Given the description of an element on the screen output the (x, y) to click on. 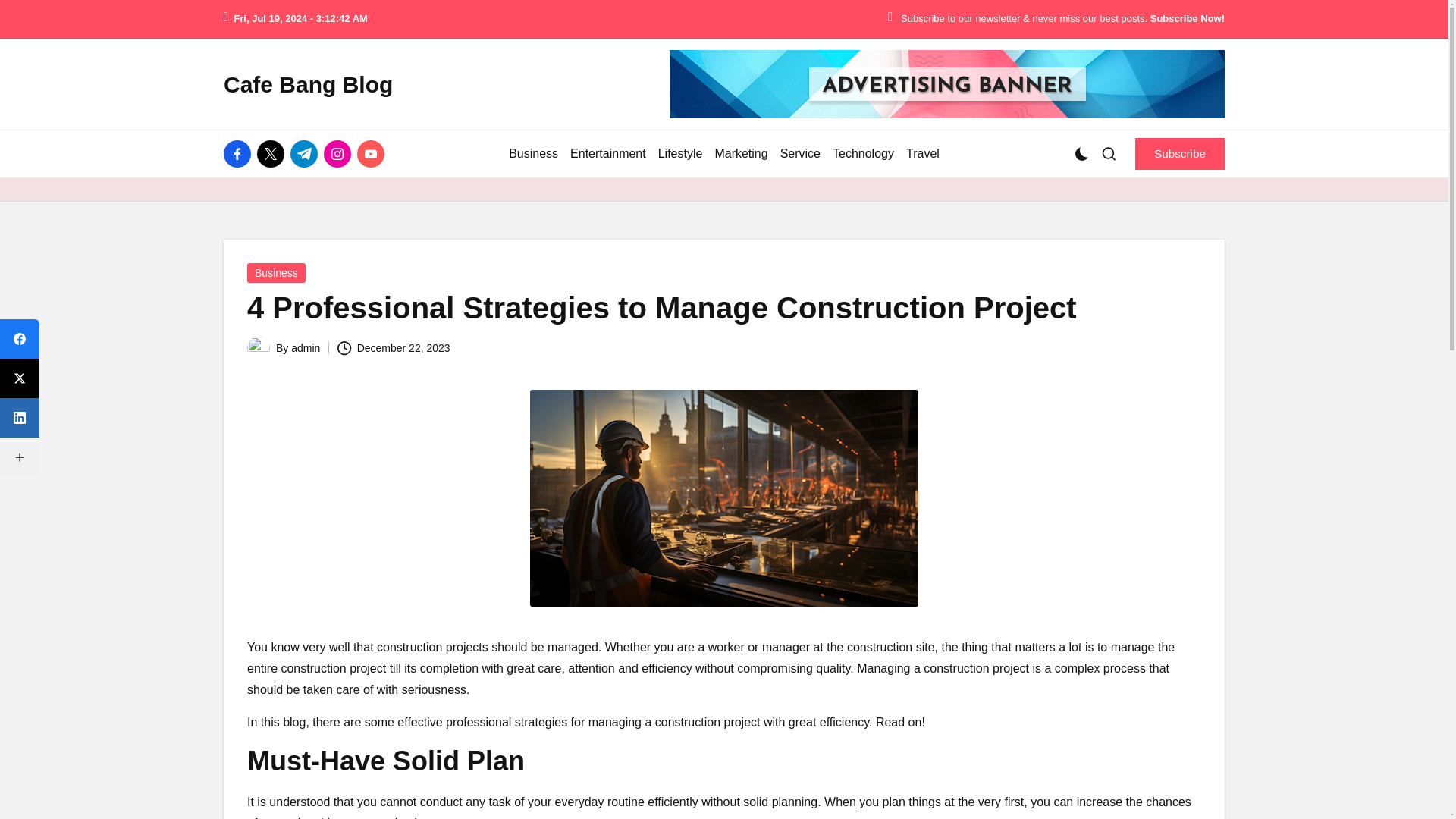
Subscribe (1179, 153)
Subscribe Now! (1187, 18)
Business (276, 272)
t.me (306, 153)
instagram.com (339, 153)
Technology (862, 153)
Marketing (740, 153)
Cafe Bang Blog (308, 83)
View all posts by admin (305, 347)
facebook.com (240, 153)
admin (305, 347)
Business (532, 153)
youtube.com (373, 153)
Entertainment (608, 153)
Service (800, 153)
